Given the description of an element on the screen output the (x, y) to click on. 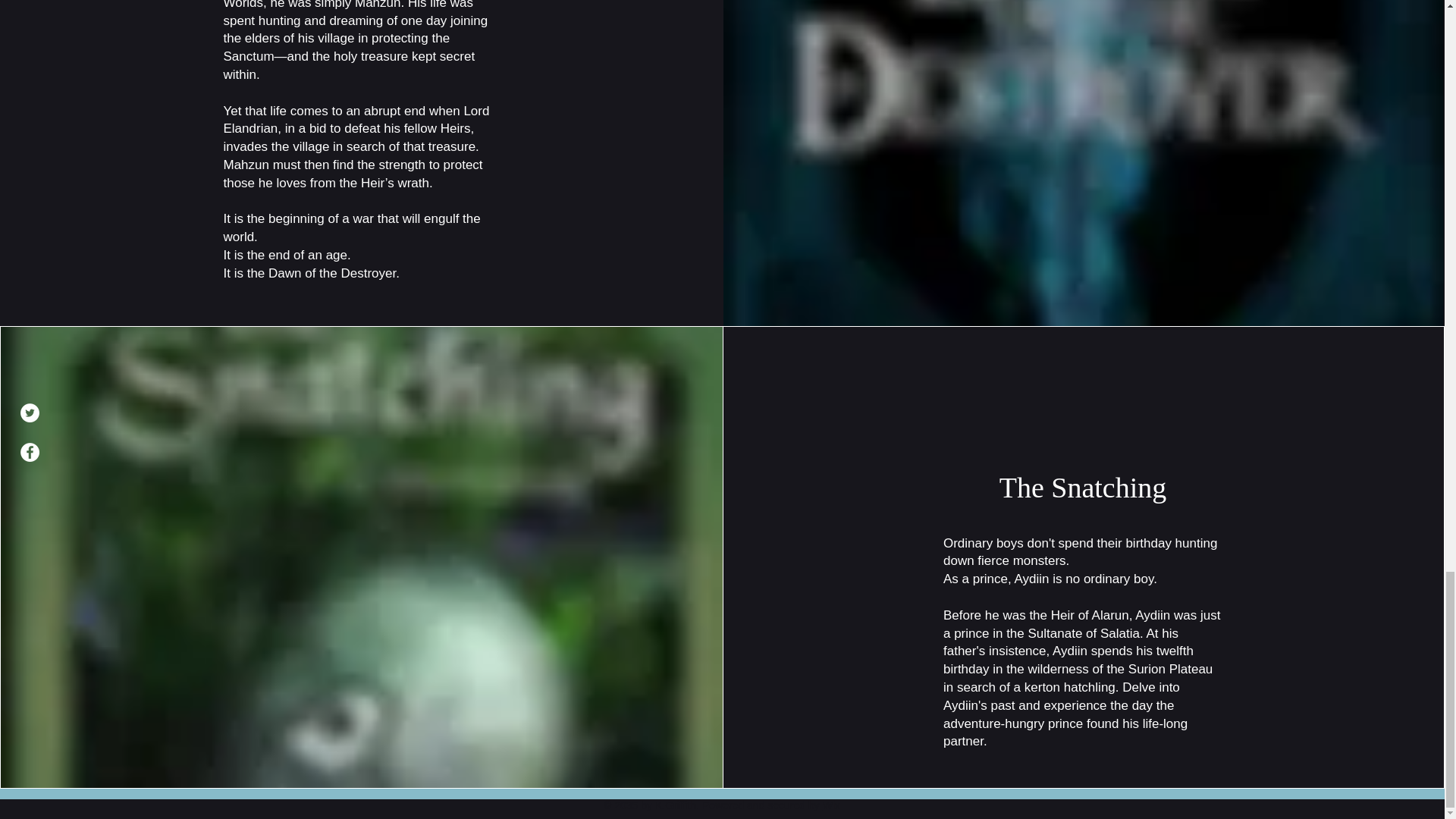
Wix (831, 805)
